Given the description of an element on the screen output the (x, y) to click on. 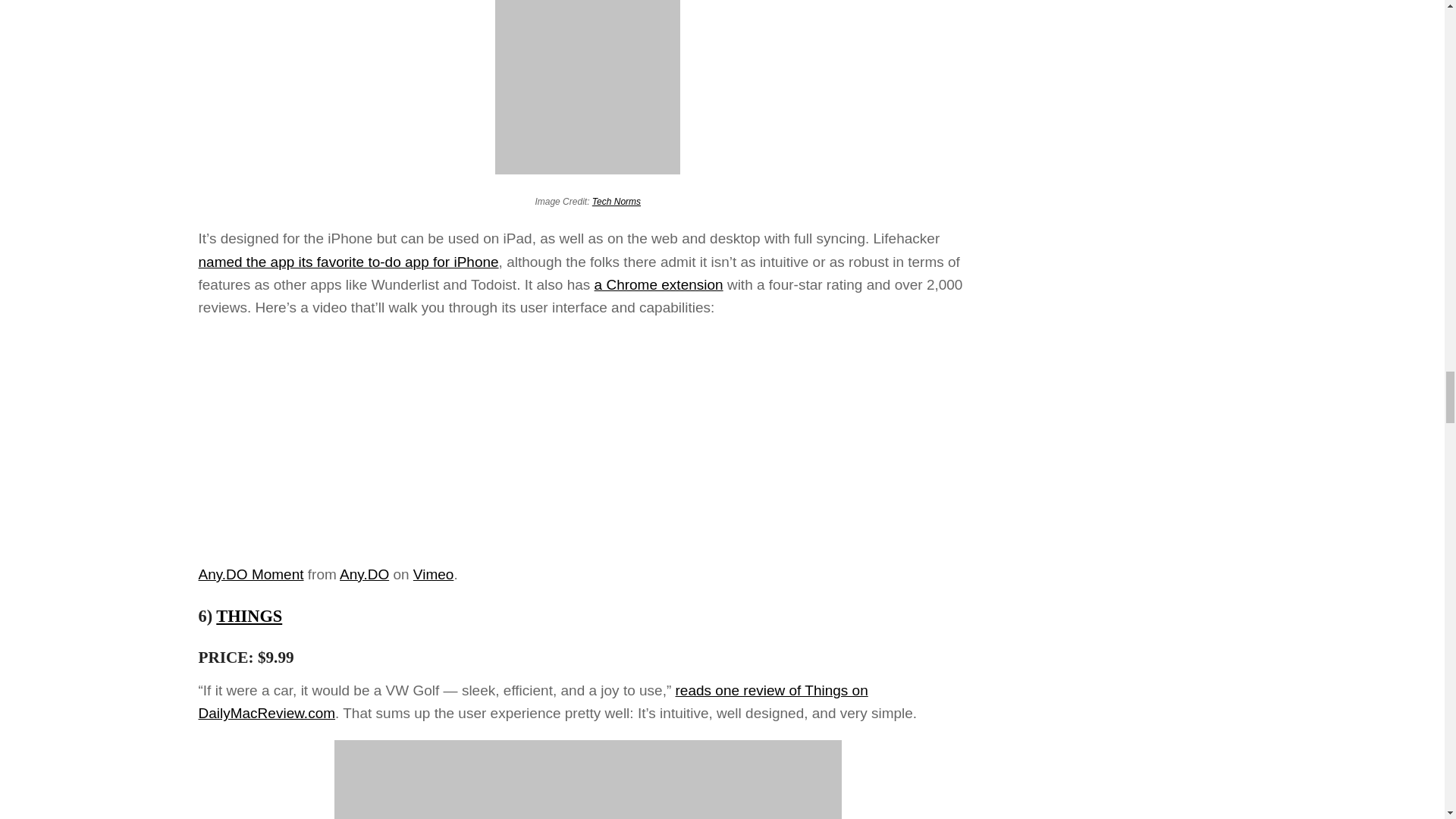
any-do-app.png (587, 87)
things-app.png (587, 779)
